Given the description of an element on the screen output the (x, y) to click on. 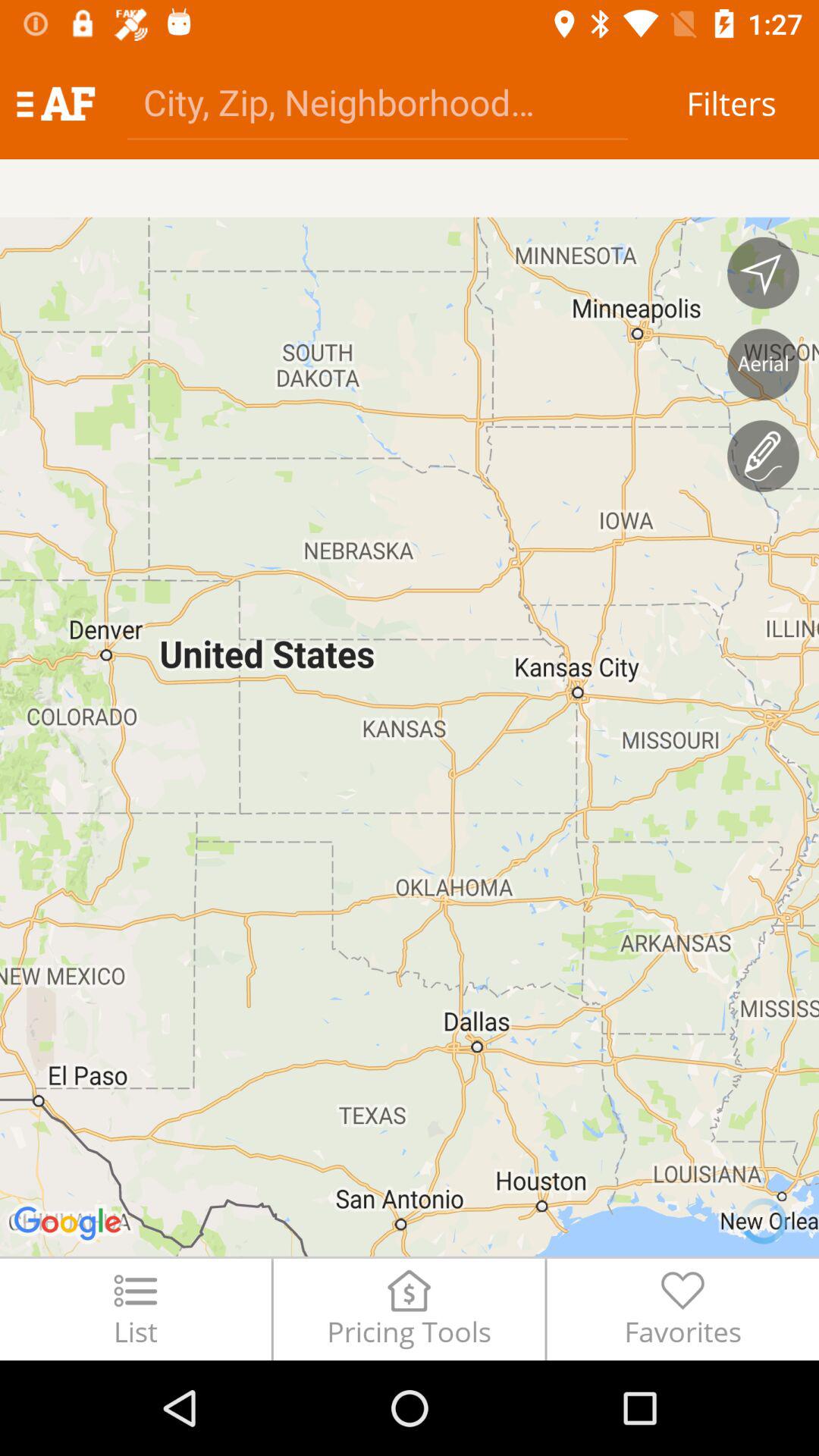
turn on favorites at the bottom right corner (683, 1309)
